Given the description of an element on the screen output the (x, y) to click on. 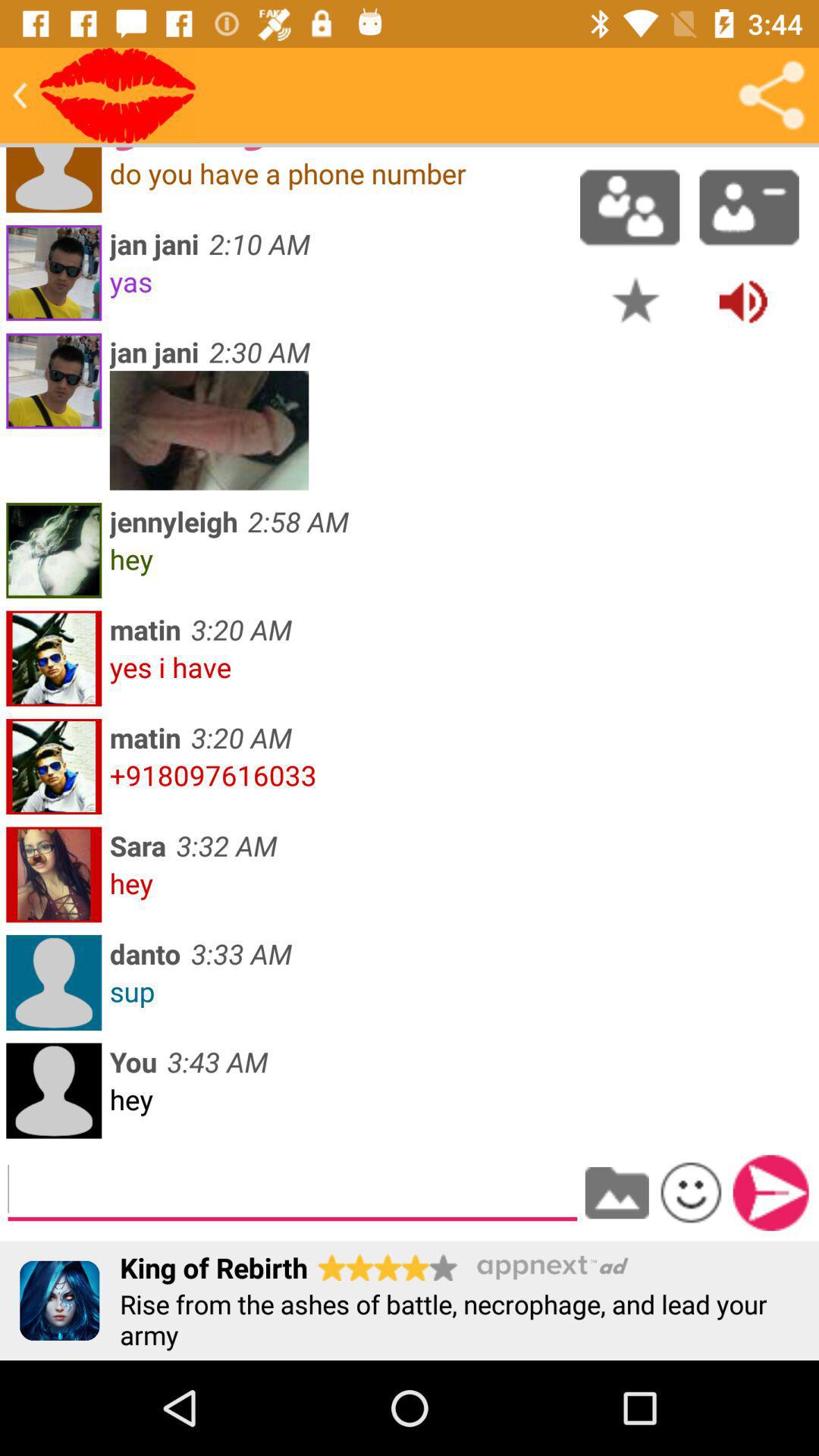
share (771, 95)
